Given the description of an element on the screen output the (x, y) to click on. 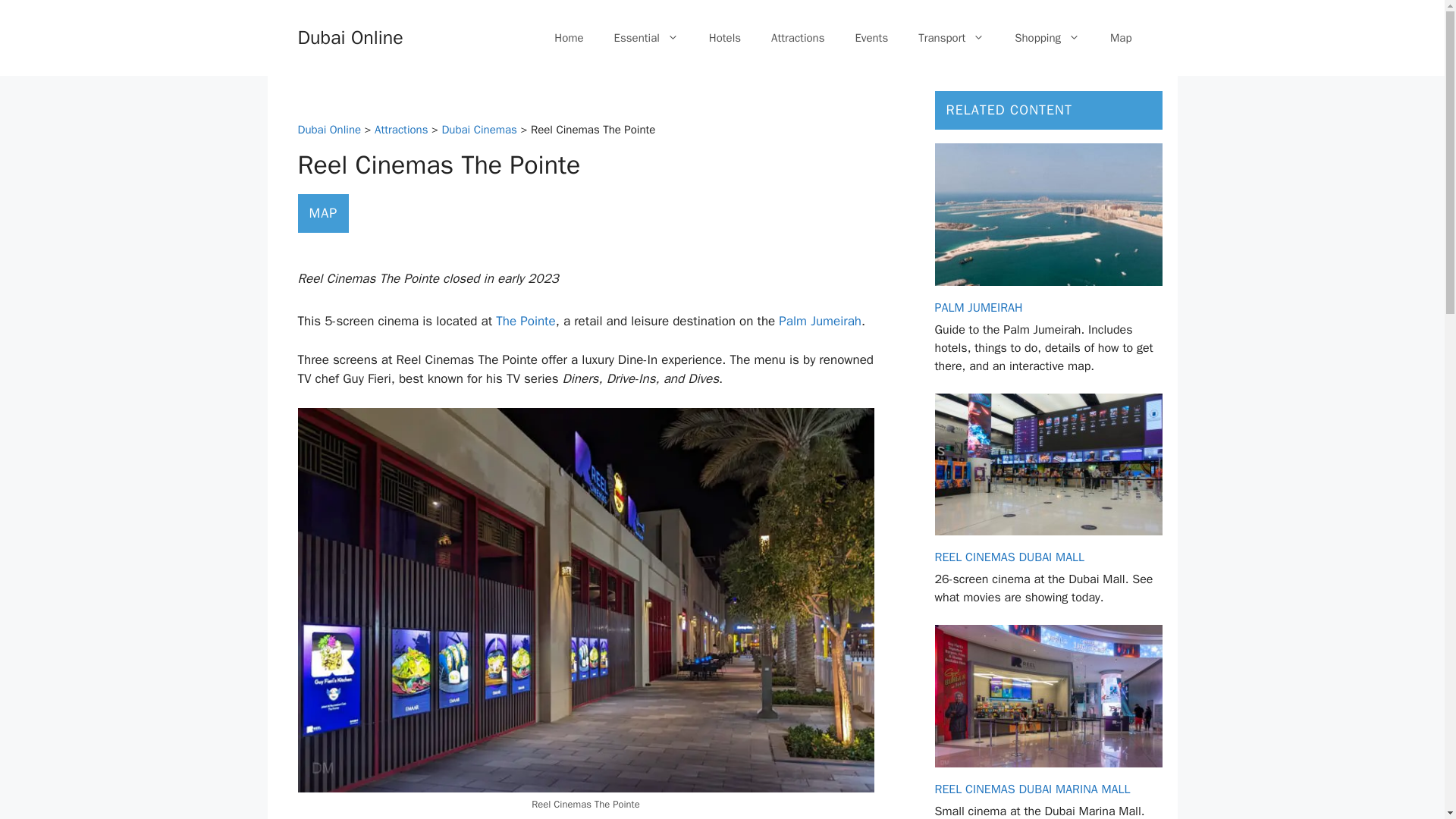
Go to Dubai Online. (329, 129)
Shopping (1046, 37)
Map (1120, 37)
Dubai Online (329, 129)
Go to Dubai Cinemas. (478, 129)
Attractions (797, 37)
Attractions (401, 129)
Home (568, 37)
The Pointe (525, 320)
Palm Jumeirah (819, 320)
